Given the description of an element on the screen output the (x, y) to click on. 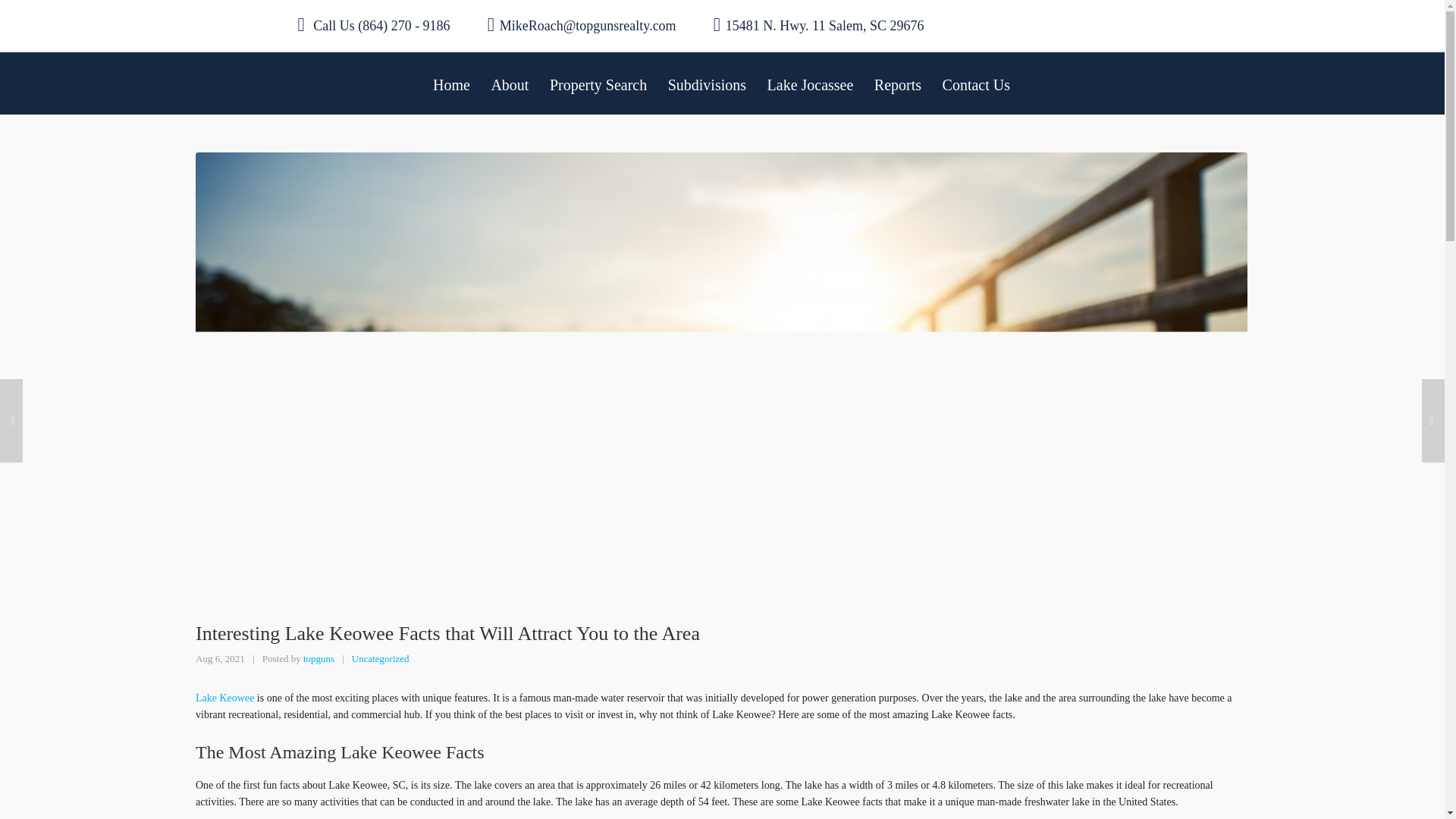
15481 N. Hwy. 11 Salem, SC 29676 (818, 24)
Home (451, 83)
View all posts in Uncategorized (380, 658)
About (509, 83)
Posts by topguns (318, 658)
